Given the description of an element on the screen output the (x, y) to click on. 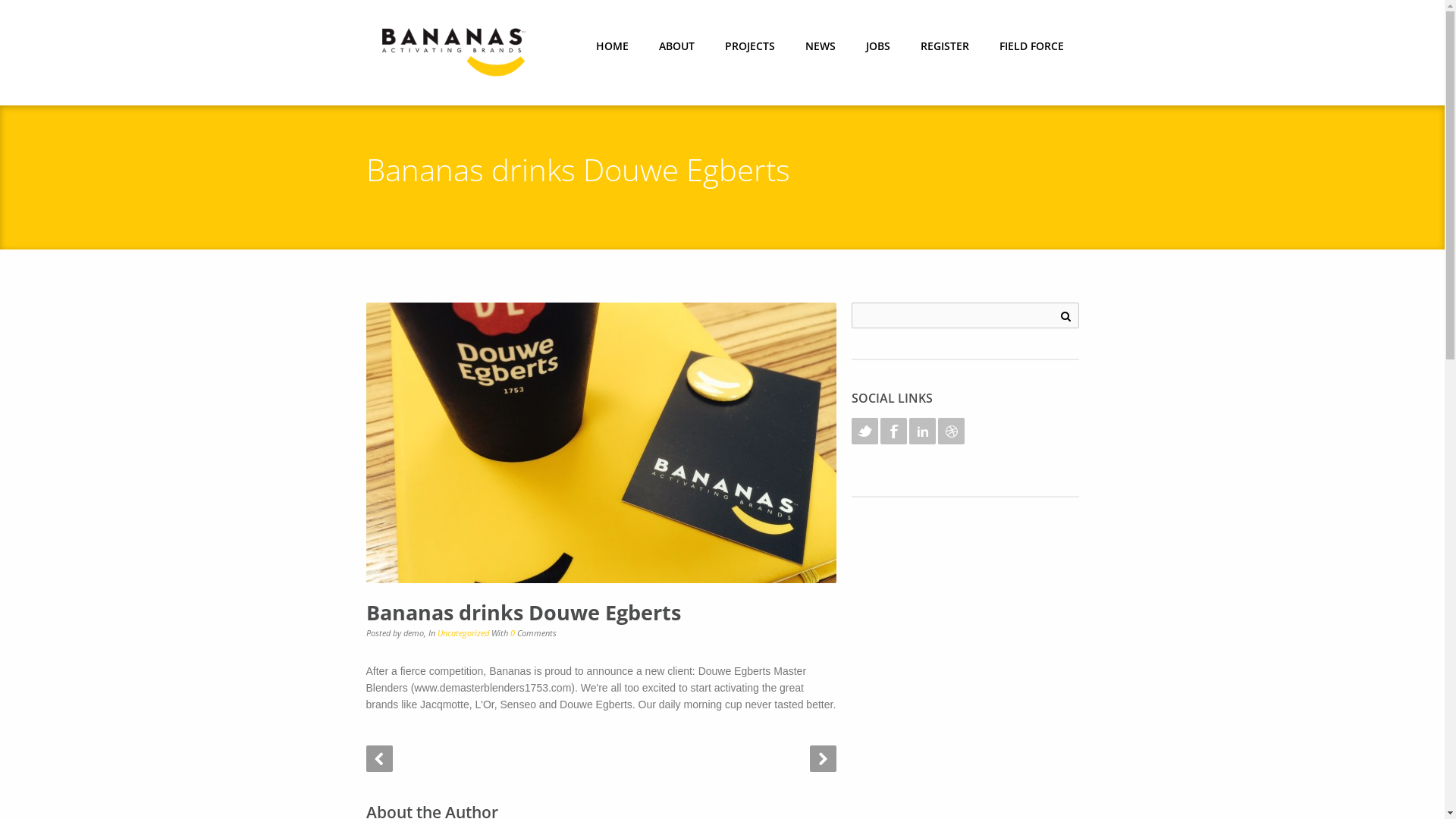
REGISTER Element type: text (944, 49)
NEWS Element type: text (820, 49)
JOBS Element type: text (878, 49)
  Element type: text (366, 721)
Next Element type: text (822, 758)
HOME Element type: text (612, 49)
Facebook Element type: hover (892, 430)
Linkedin Element type: hover (921, 430)
Prev Element type: text (378, 758)
Uncategorized Element type: text (462, 632)
Search Element type: text (1065, 315)
0 Element type: text (511, 632)
PROJECTS Element type: text (749, 49)
ABOUT Element type: text (675, 49)
Activating Brands Element type: hover (454, 52)
Twitter Element type: hover (863, 430)
FIELD FORCE Element type: text (1031, 49)
www.demasterblenders1753.com Element type: text (492, 687)
